Given the description of an element on the screen output the (x, y) to click on. 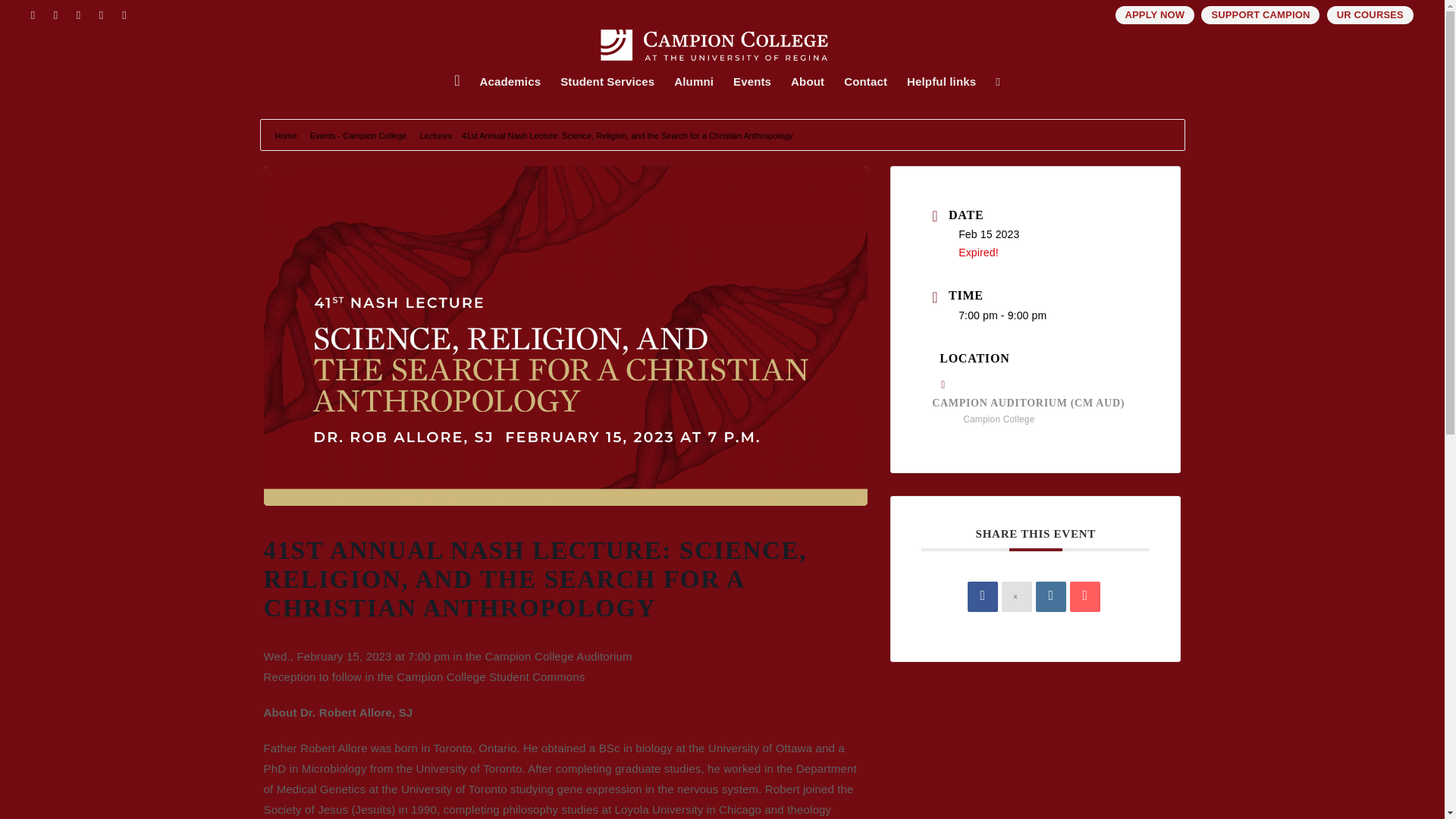
UR COURSES (1369, 14)
Share on Facebook (982, 596)
Facebook (32, 15)
LinkedIn (101, 15)
Student Services (606, 81)
Twitter (55, 15)
Email (1085, 596)
X Social Network (1016, 596)
SUPPORT CAMPION (1260, 14)
Instagram (77, 15)
Alumni (693, 81)
Academics (510, 81)
Linkedin (1050, 596)
Youtube (124, 15)
APPLY NOW (1155, 14)
